Given the description of an element on the screen output the (x, y) to click on. 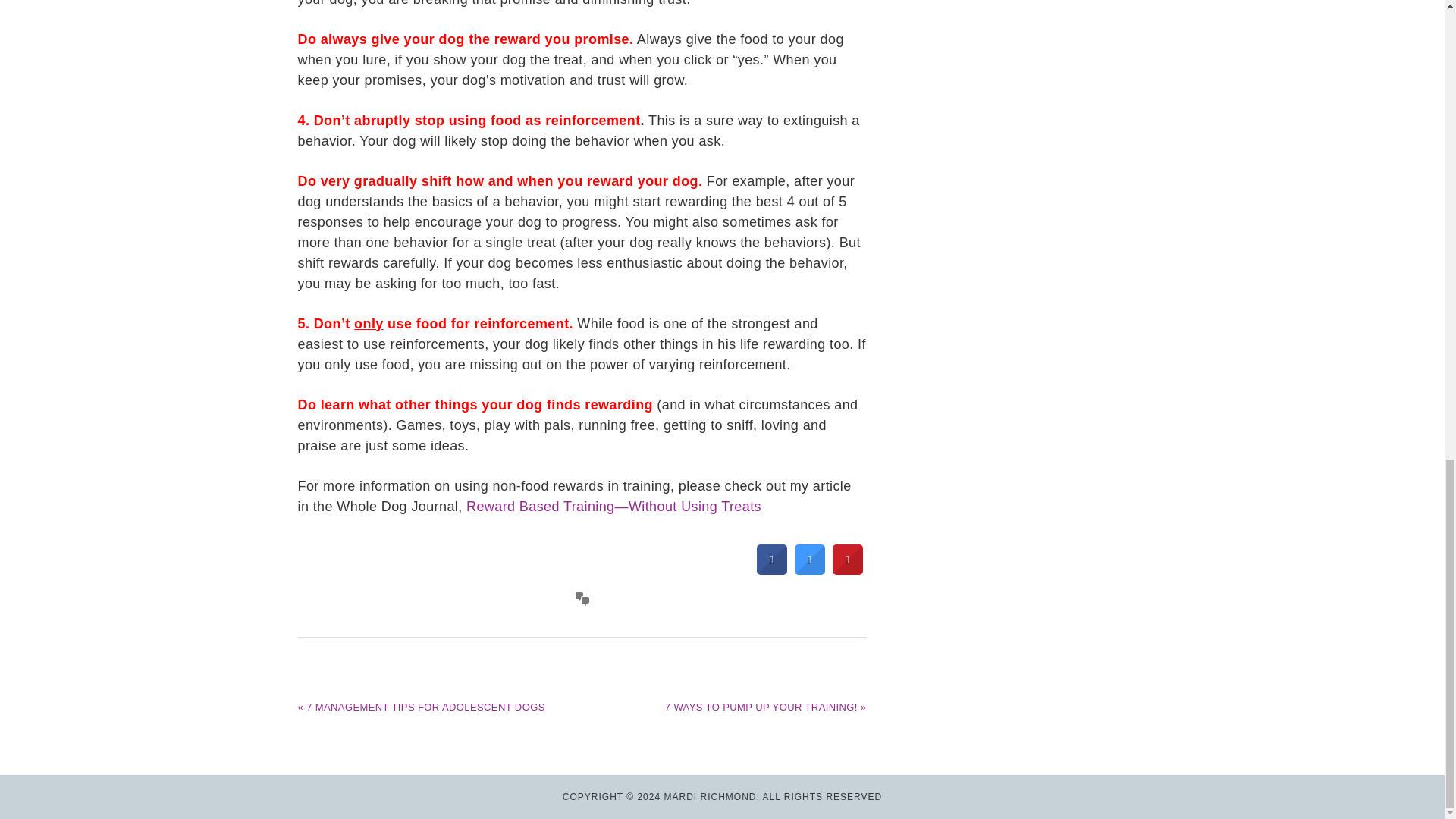
Share on Twitter (809, 569)
Share on Facebook (772, 569)
Share on Pinterest (847, 569)
